Given the description of an element on the screen output the (x, y) to click on. 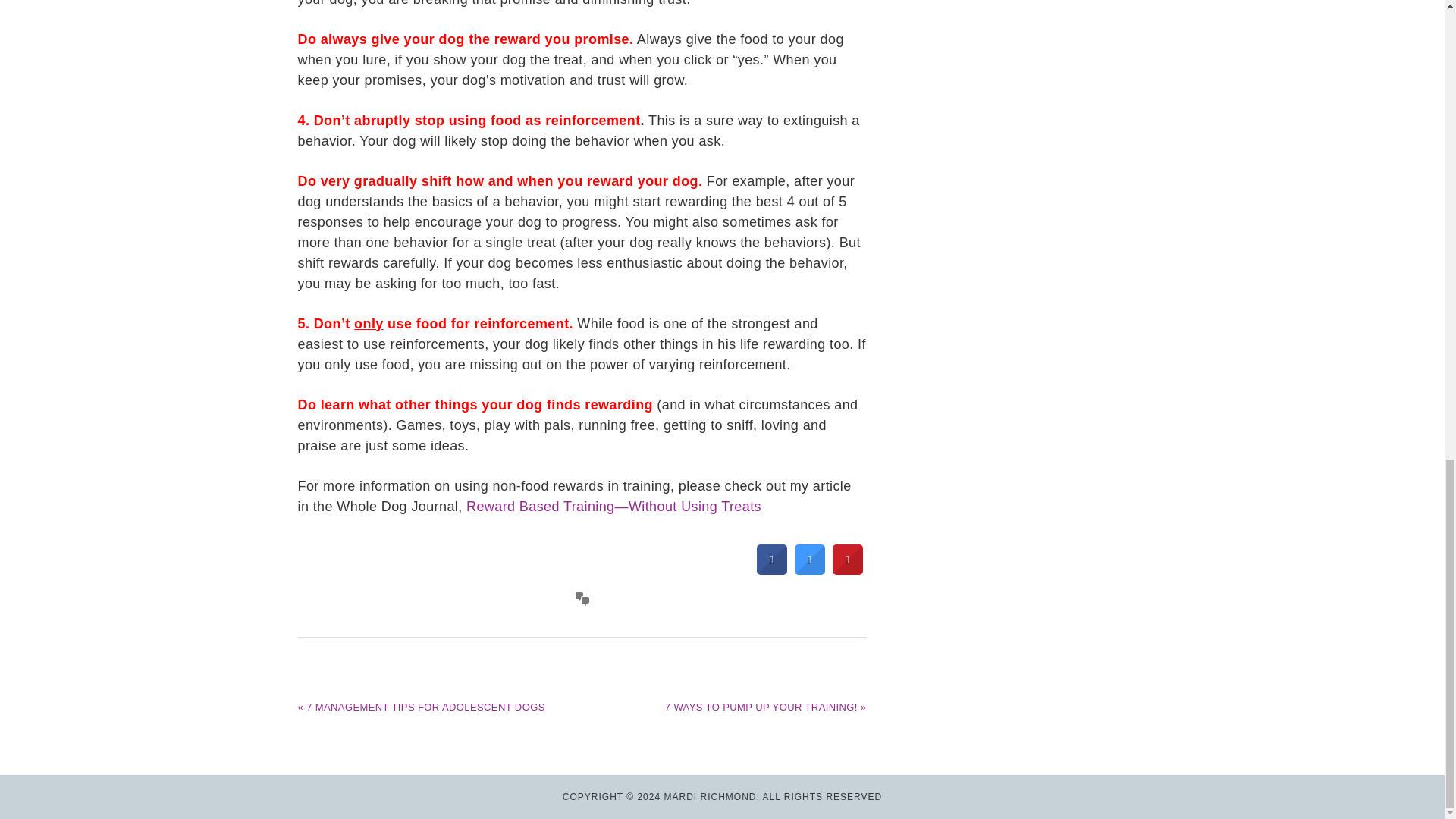
Share on Twitter (809, 569)
Share on Facebook (772, 569)
Share on Pinterest (847, 569)
